Given the description of an element on the screen output the (x, y) to click on. 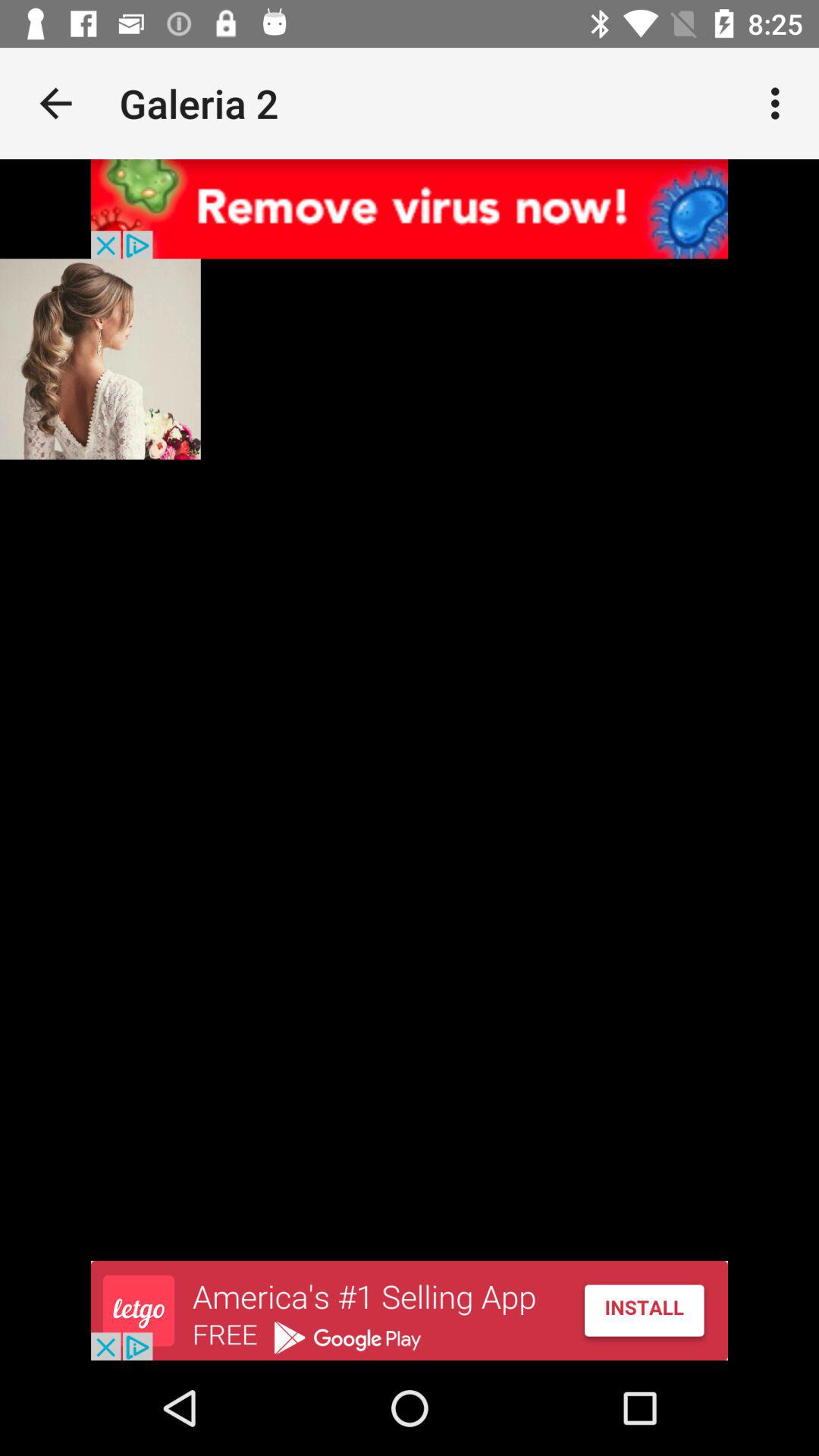
in app advertisement space (409, 208)
